Given the description of an element on the screen output the (x, y) to click on. 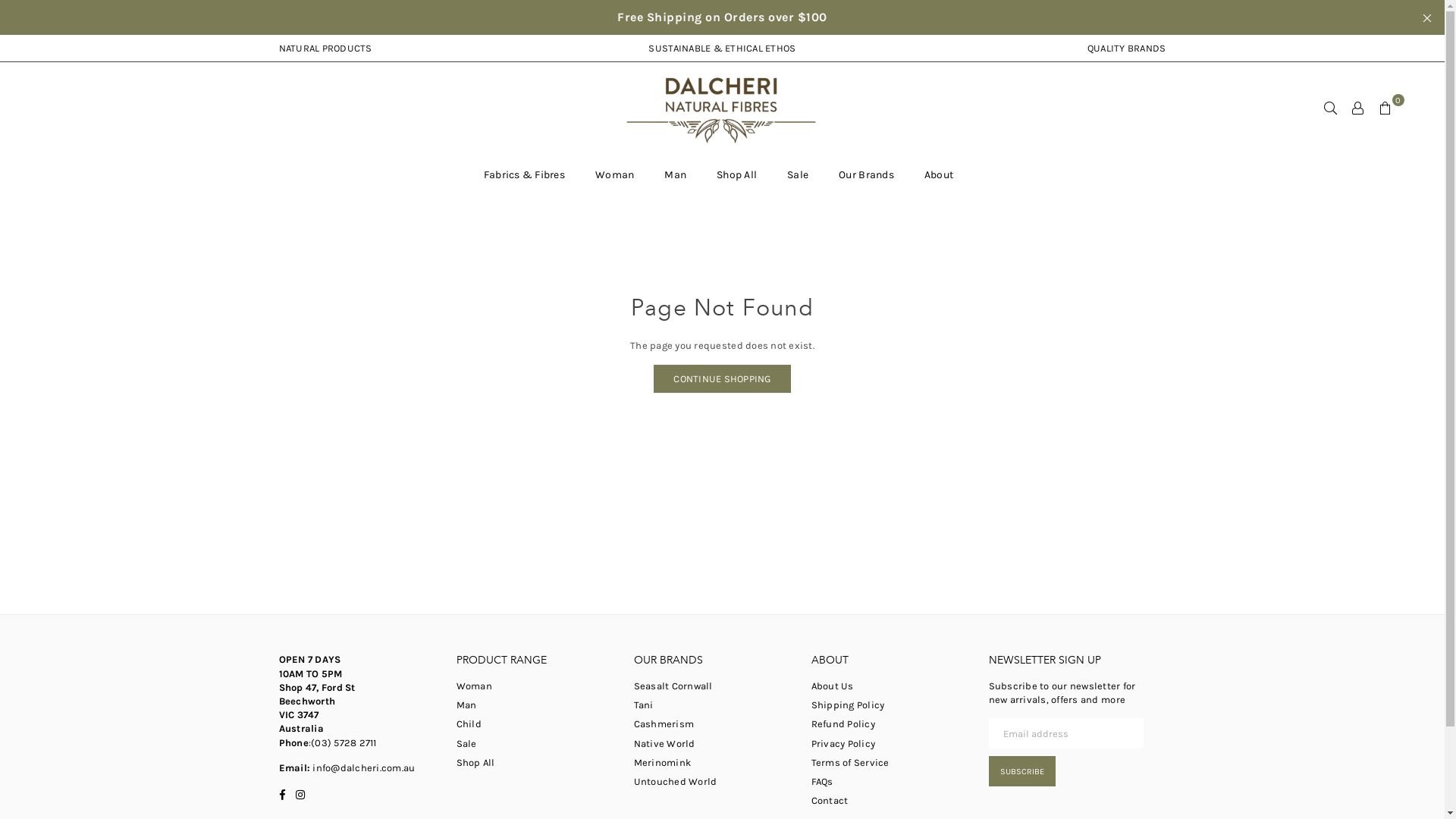
Contact Element type: text (829, 800)
Fabrics & Fibres Element type: text (524, 174)
info@dalcheri.com.au Element type: text (362, 767)
Instagram Element type: text (300, 793)
Shipping Policy Element type: text (847, 704)
Man Element type: text (466, 704)
Refund Policy Element type: text (843, 723)
Native World Element type: text (664, 743)
Sale Element type: text (797, 174)
Cashmerism Element type: text (663, 723)
Man Element type: text (674, 174)
Shop All Element type: text (475, 762)
Our Brands Element type: text (866, 174)
SUBSCRIBE Element type: text (1021, 771)
Sale Element type: text (466, 743)
Woman Element type: text (614, 174)
0 Element type: text (1385, 107)
About Us Element type: text (832, 685)
Woman Element type: text (474, 685)
Merinomink Element type: text (662, 762)
Shop All Element type: text (736, 174)
CONTINUE SHOPPING Element type: text (721, 378)
Search Element type: hover (1330, 107)
Facebook Element type: text (282, 793)
Settings Element type: hover (1357, 107)
Untouched World Element type: text (675, 781)
About Element type: text (938, 174)
Child Element type: text (468, 723)
Terms of Service Element type: text (850, 762)
FAQs Element type: text (822, 781)
Seasalt Cornwall Element type: text (672, 685)
Tani Element type: text (643, 704)
DALCHERI Element type: text (722, 107)
Privacy Policy Element type: text (843, 743)
